Given the description of an element on the screen output the (x, y) to click on. 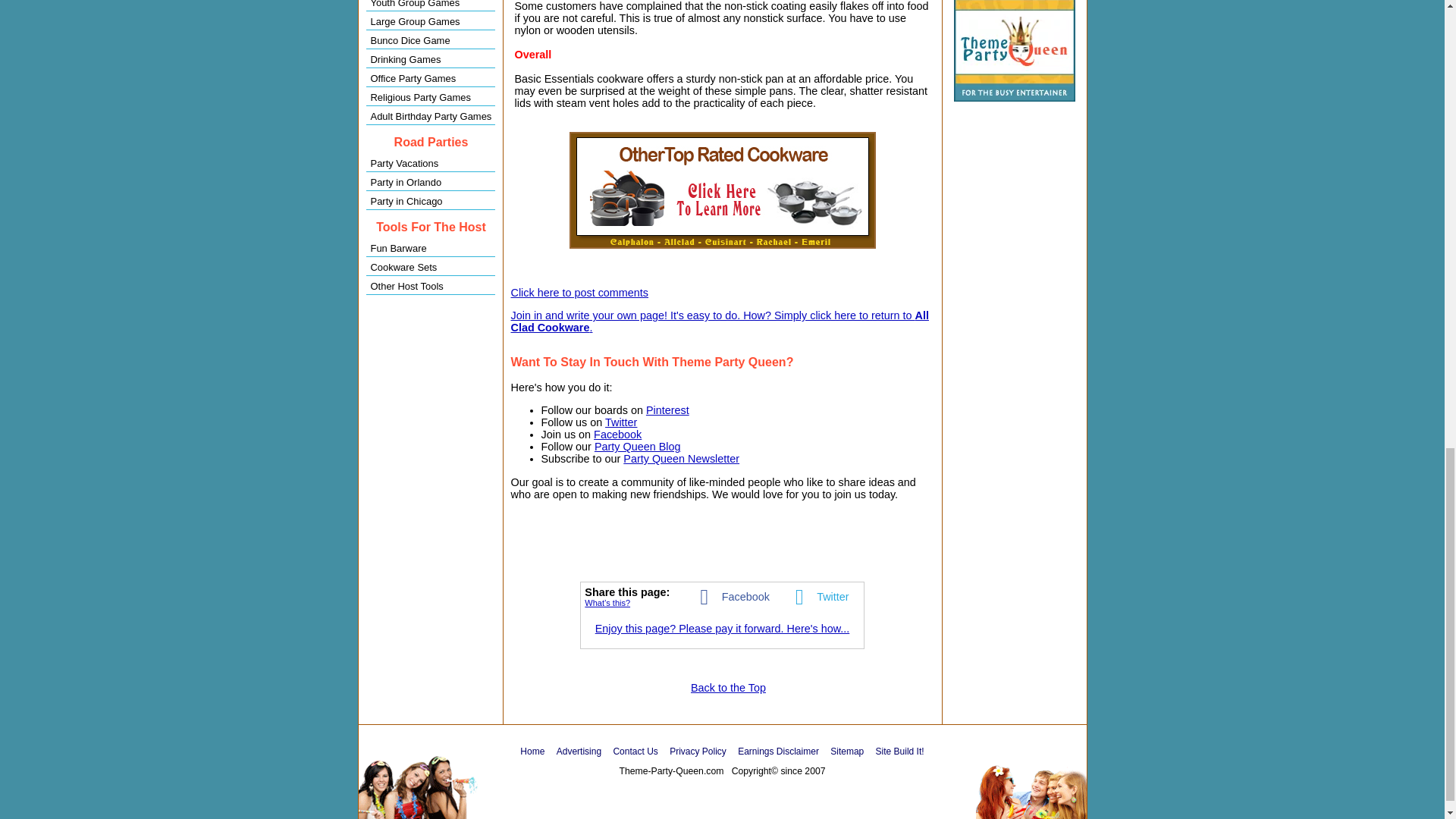
Enjoy this page? Please pay it forward. Here's how... (722, 628)
Party Queen Blog (637, 446)
Facebook (618, 434)
Pinterest (667, 410)
Click here to post comments (580, 292)
Theme Party Queen Logo (1014, 50)
Twitter (817, 595)
Back to the Top (727, 687)
Party Queen Newsletter (681, 458)
Twitter (621, 422)
Facebook (730, 595)
